Given the description of an element on the screen output the (x, y) to click on. 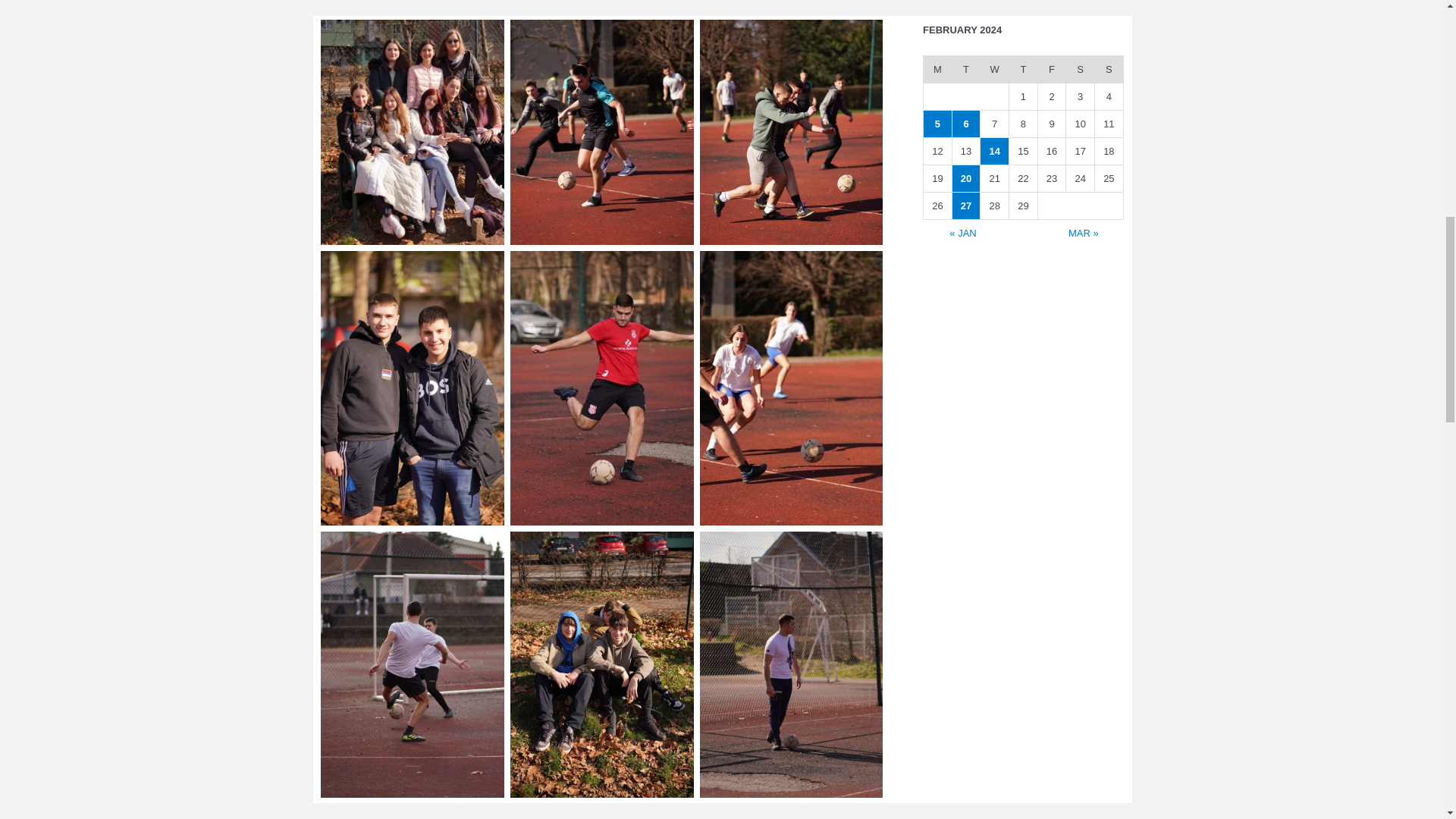
Wednesday (994, 69)
Sunday (1109, 69)
Thursday (1023, 69)
Monday (937, 69)
Tuesday (965, 69)
Friday (1050, 69)
Saturday (1079, 69)
